Given the description of an element on the screen output the (x, y) to click on. 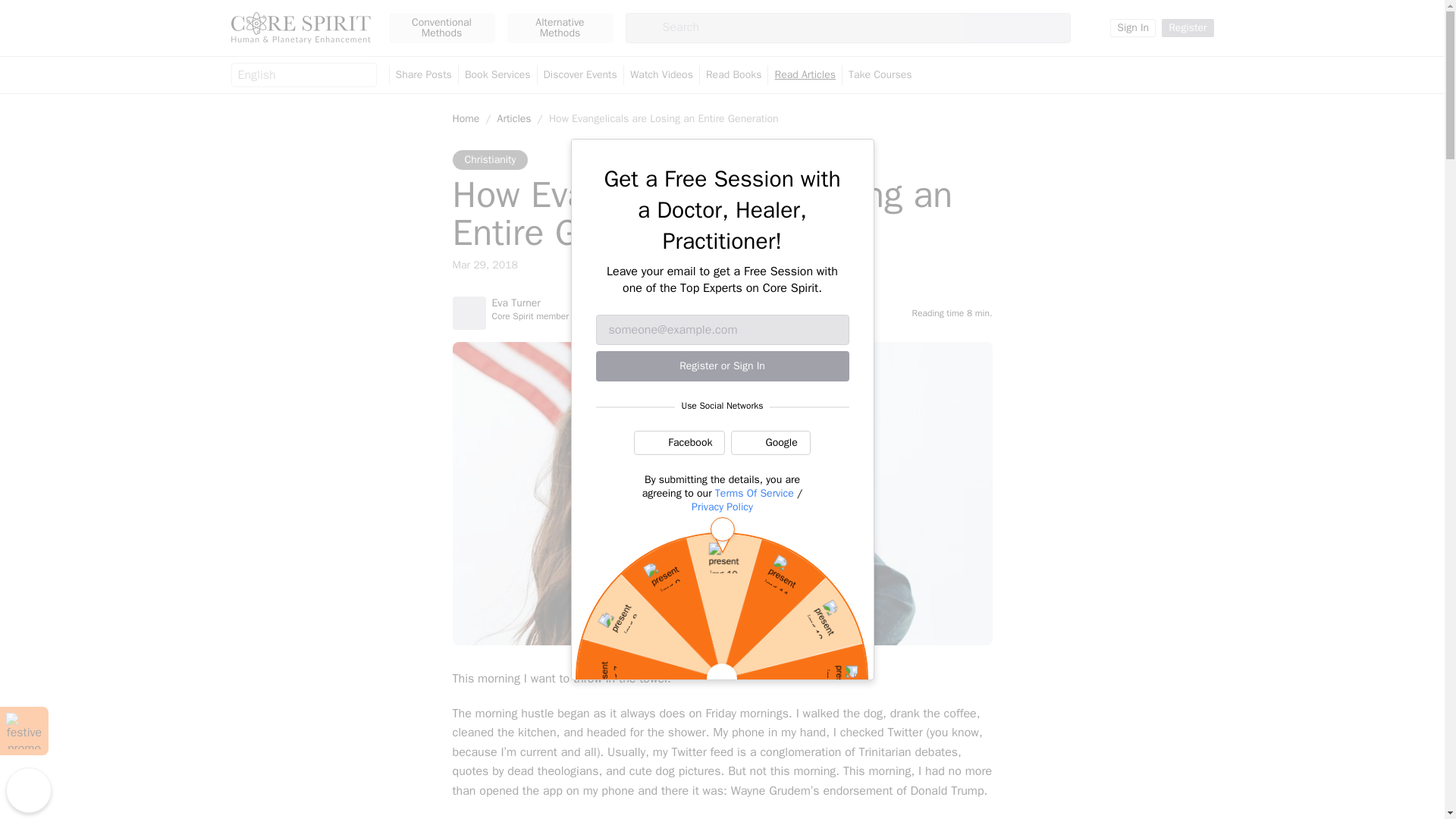
Back to top (27, 790)
Book Services (497, 75)
Sign In (1132, 27)
Register (1186, 27)
Alternative Methods (559, 28)
Conventional Methods (441, 28)
Share Posts (423, 75)
